Given the description of an element on the screen output the (x, y) to click on. 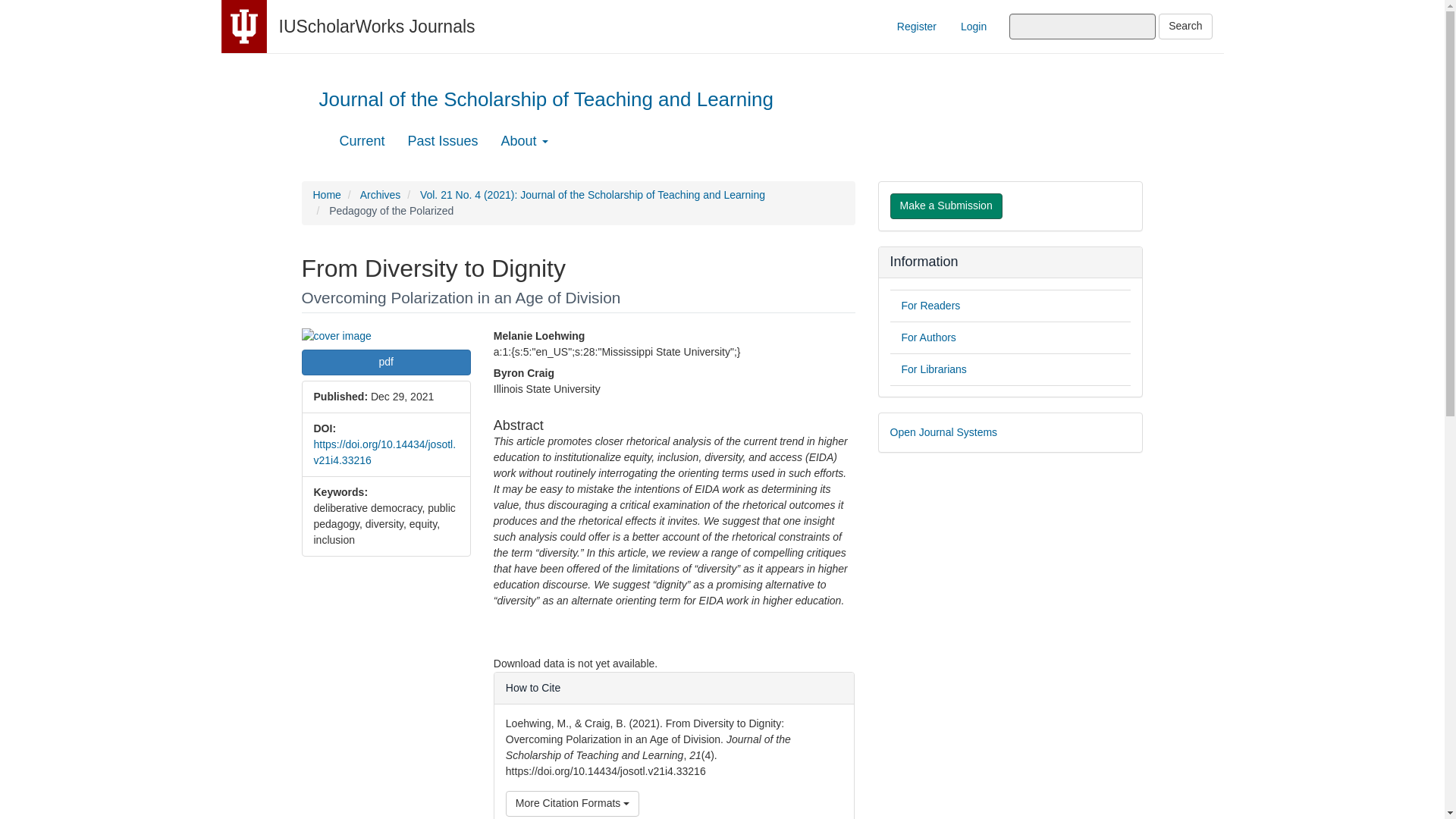
Login (973, 25)
About (524, 140)
Home (326, 194)
Archives (380, 194)
pdf (385, 362)
More Citation Formats (572, 803)
Make a Submission (946, 206)
Open Journal Systems (943, 431)
Register (916, 25)
For Librarians (933, 369)
Journal of the Scholarship of Teaching and Learning (545, 103)
Current (361, 140)
For Authors (928, 337)
Search (1184, 26)
Past Issues (442, 140)
